Given the description of an element on the screen output the (x, y) to click on. 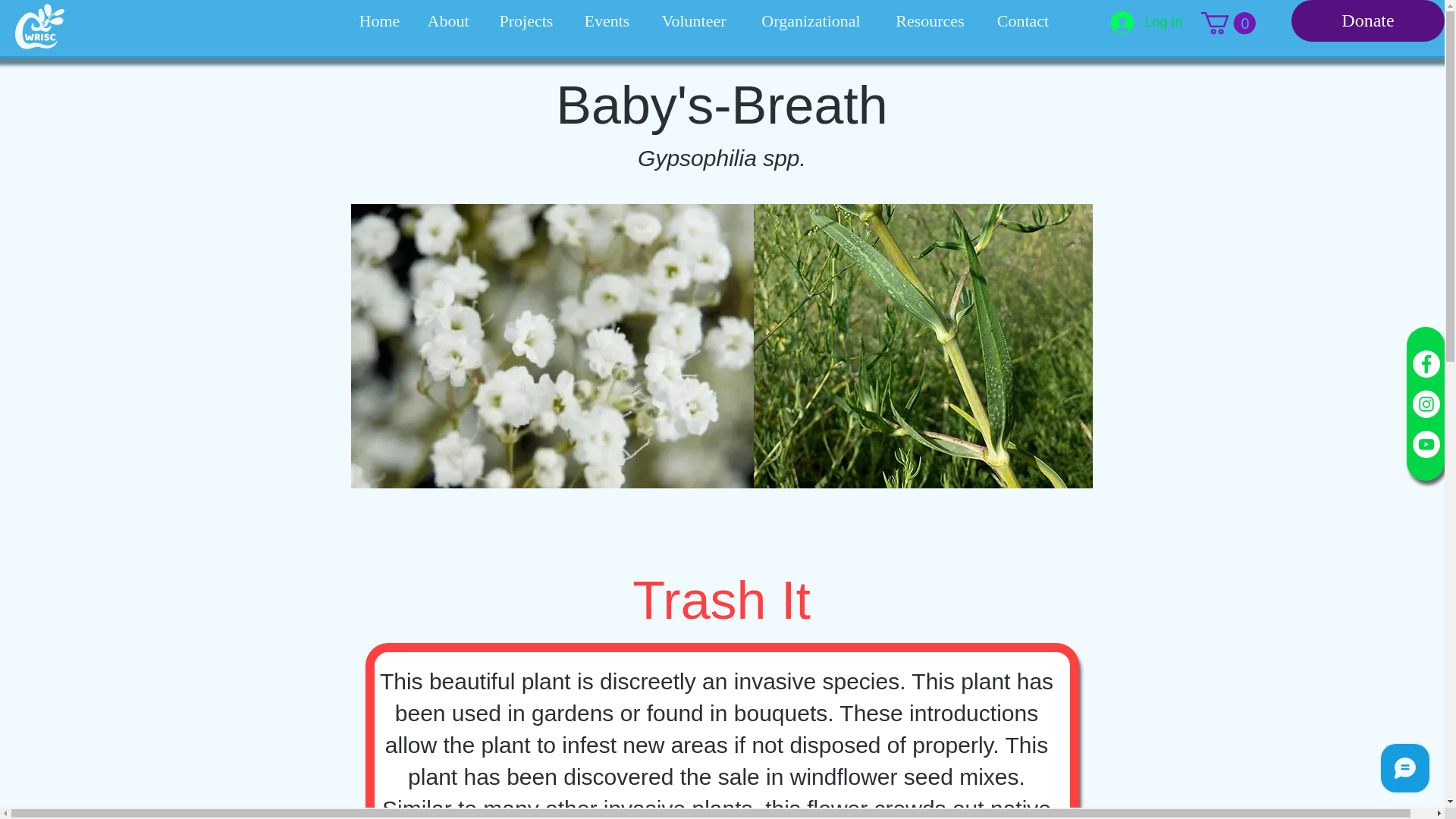
Organizational (810, 20)
0 (1228, 23)
Home (379, 20)
Resources (930, 20)
Events (607, 20)
Wix Chat (1408, 771)
Donate (1367, 20)
Projects (526, 20)
0 (1228, 23)
About (448, 20)
